Given the description of an element on the screen output the (x, y) to click on. 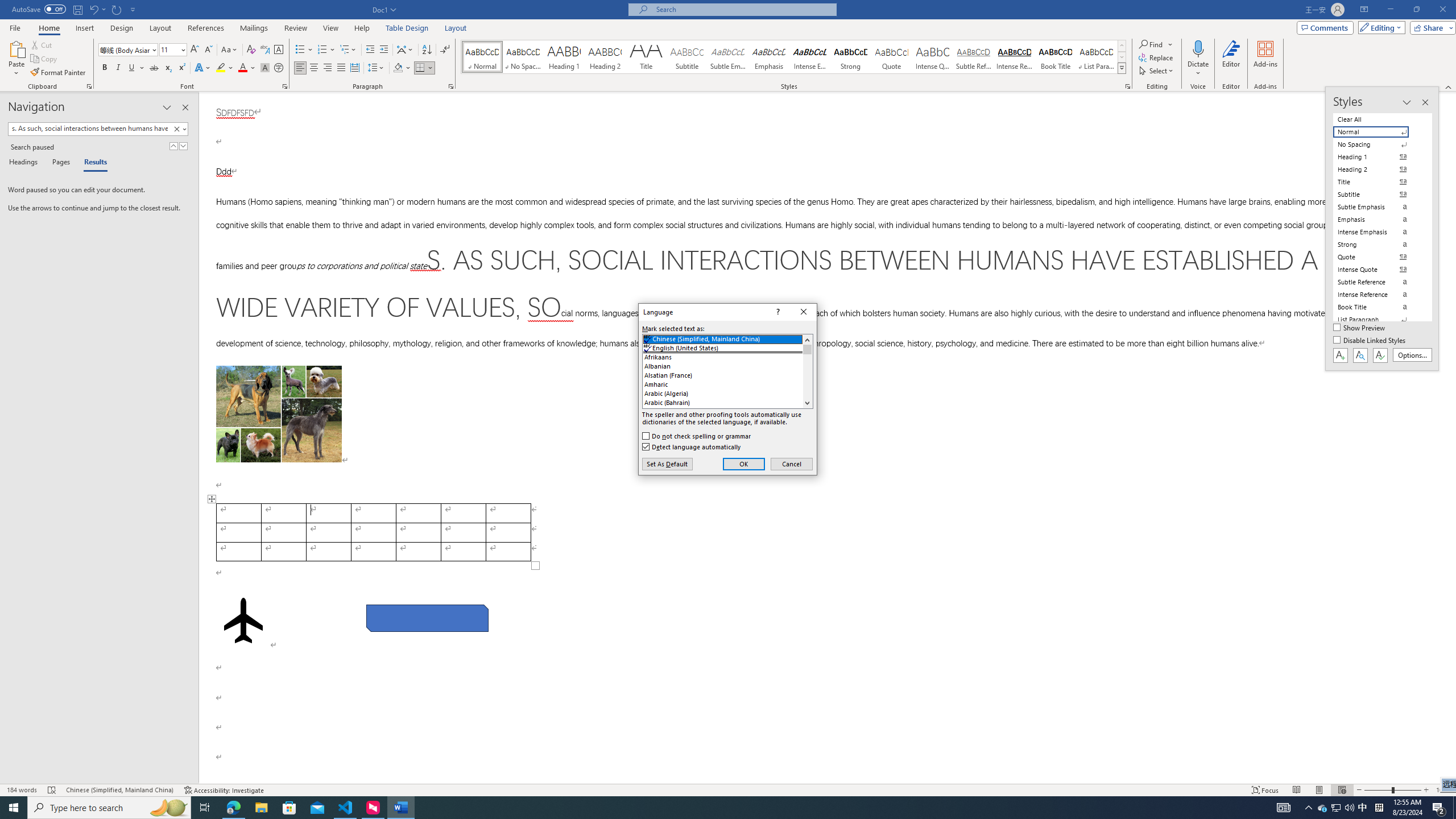
Microsoft Edge - 1 running window (233, 807)
English (United States) (727, 347)
Normal (1377, 131)
Intense Quote (932, 56)
